Given the description of an element on the screen output the (x, y) to click on. 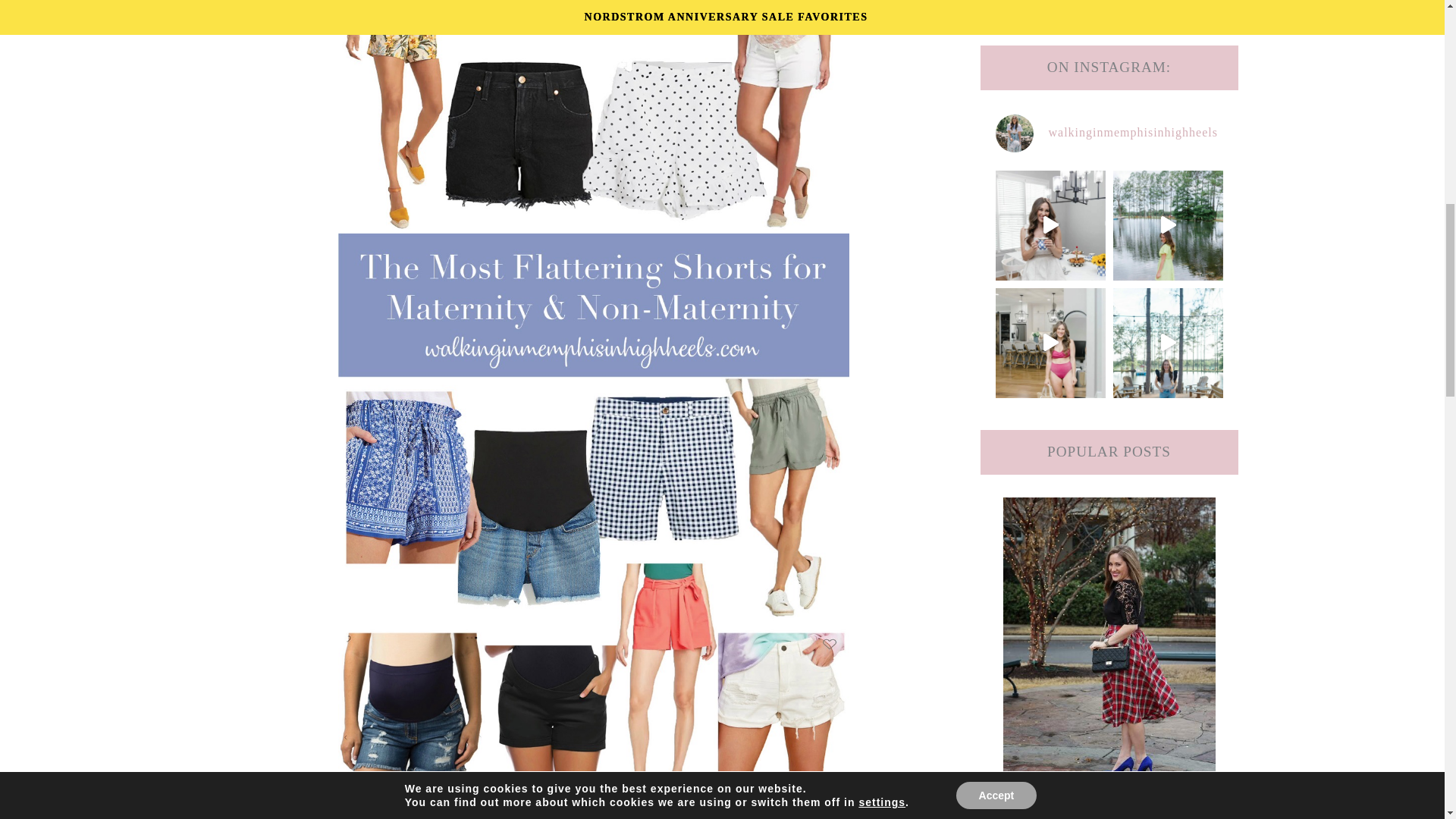
SUBSCRIBE (1108, 15)
